Given the description of an element on the screen output the (x, y) to click on. 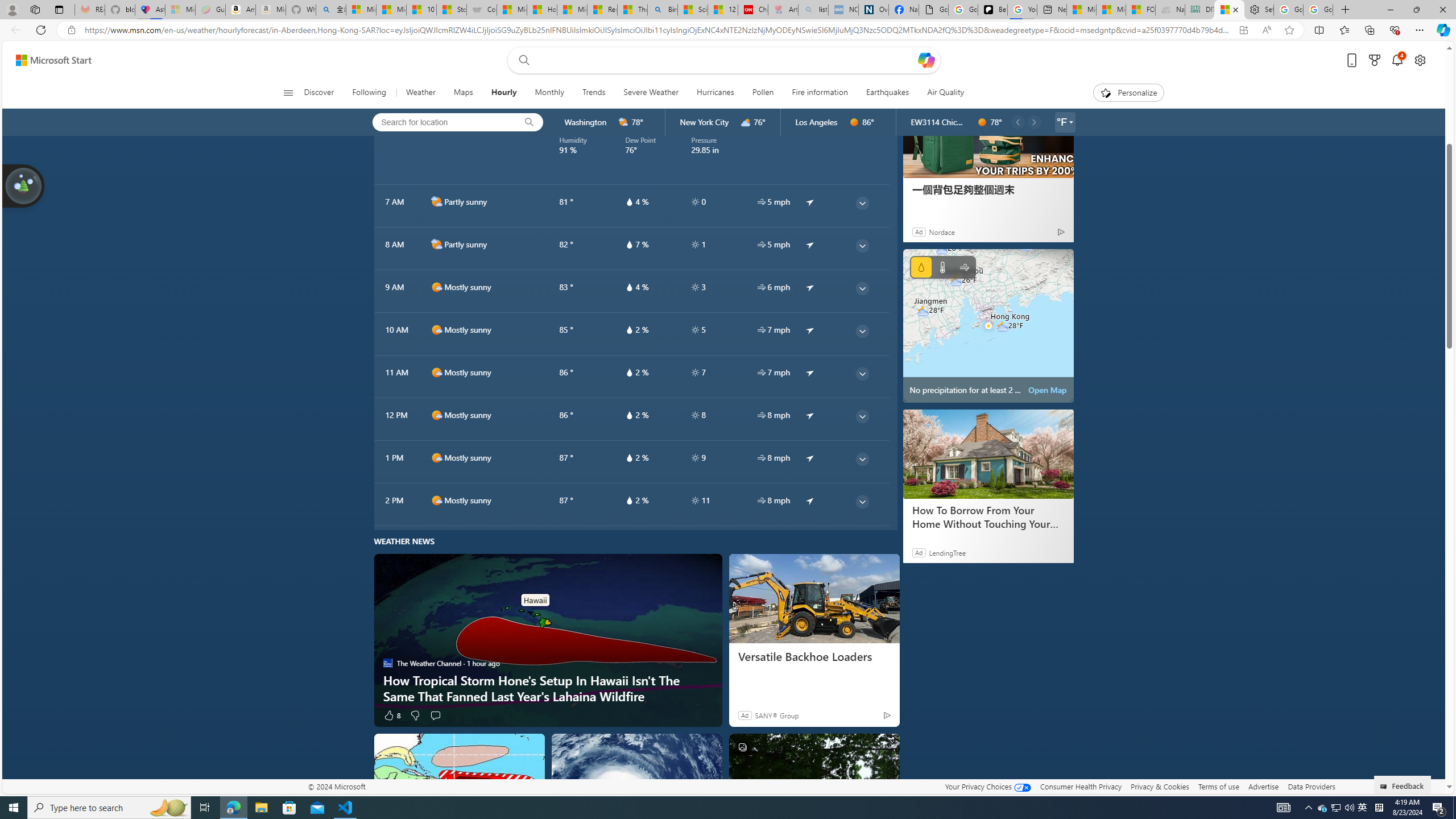
Science - MSN (691, 9)
8 Like (391, 714)
Class: feedback_link_icon-DS-EntryPoint1-1 (1384, 786)
Fire information (819, 92)
Class: miniMapRadarSVGView-DS-EntryPoint1-1 (988, 325)
App available. Install Microsoft Start Weather (1243, 29)
Fire information (820, 92)
Recipes - MSN (601, 9)
